Given the description of an element on the screen output the (x, y) to click on. 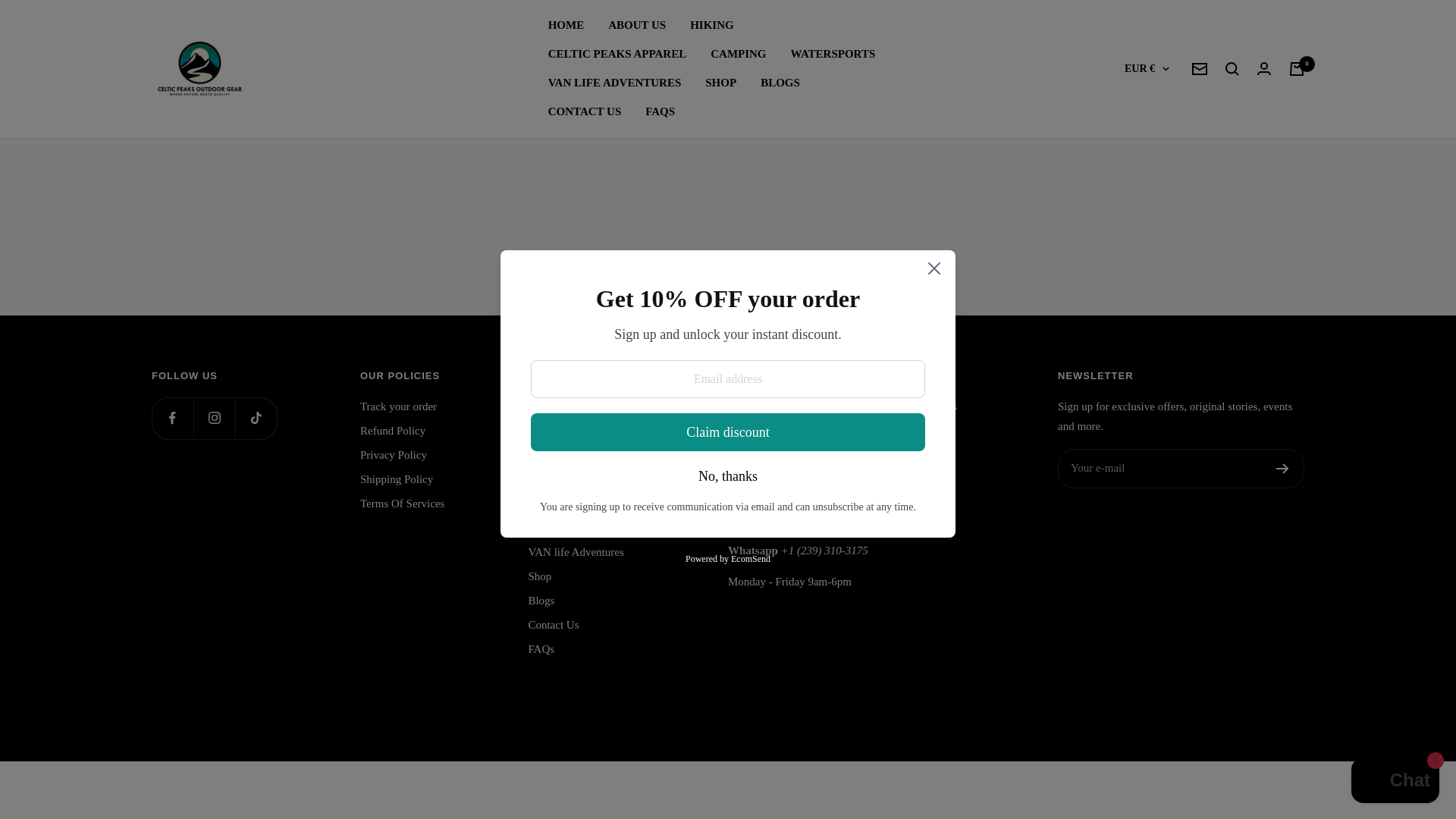
Mastercard (1184, 706)
Shop Pay (1219, 706)
Union Pay (1254, 706)
Maestro (1149, 706)
American Express (1044, 706)
Google Pay (1114, 706)
Apple Pay (1079, 706)
